Given the description of an element on the screen output the (x, y) to click on. 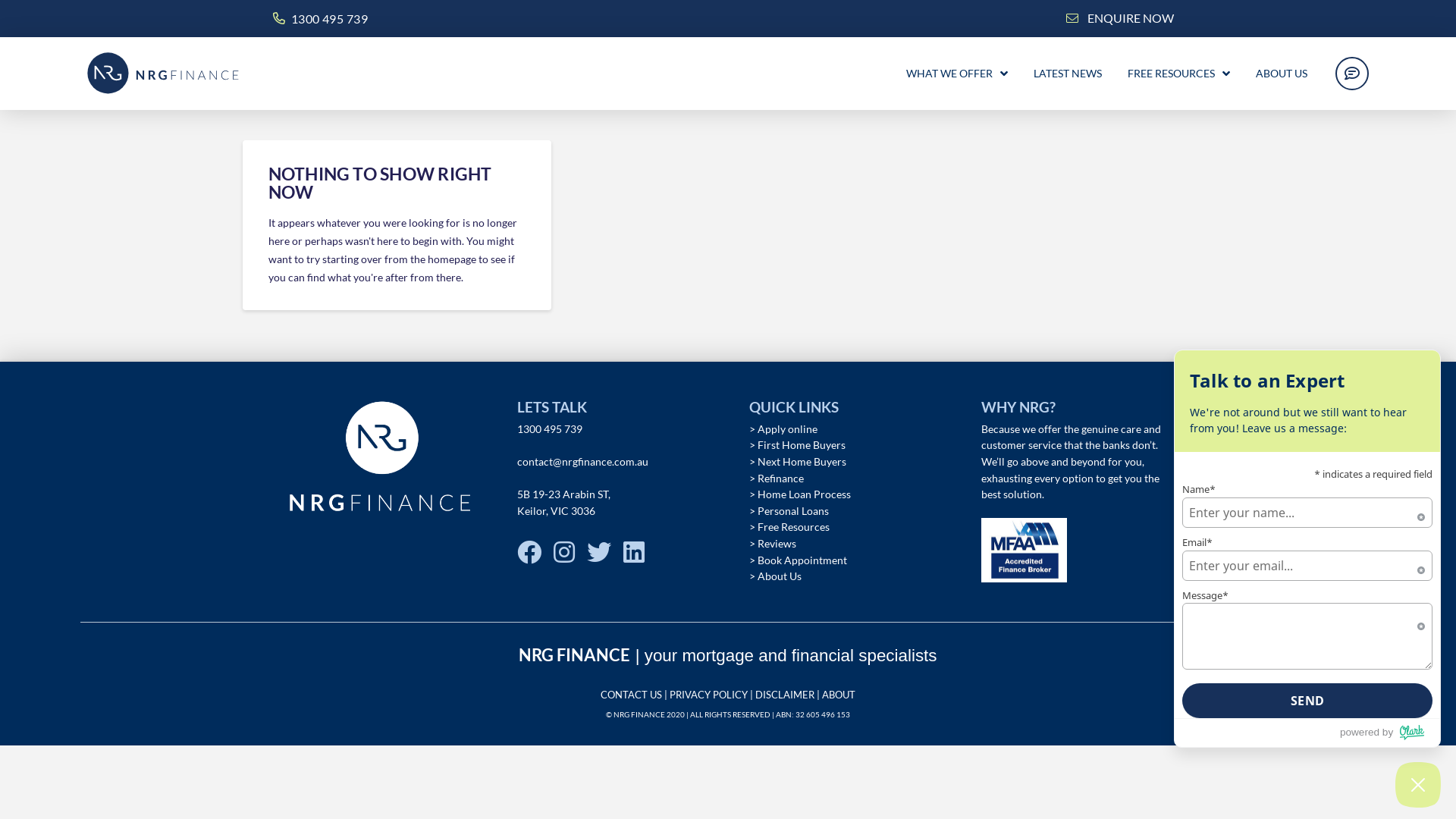
> Free Resources Element type: text (789, 526)
Required field Element type: hover (1420, 623)
> Reviews Element type: text (772, 542)
SEND Element type: text (1307, 700)
FREE RESOURCES Element type: text (1178, 73)
powered by Olark Logo Element type: text (1389, 732)
WHAT WE OFFER Element type: text (956, 73)
LATEST NEWS Element type: text (1067, 73)
CONTACT US Element type: text (631, 694)
1300 495 739 Element type: text (329, 18)
Required field Element type: hover (1420, 567)
> About Us Element type: text (775, 575)
> Book Appointment Element type: text (798, 559)
> First Home Buyers Element type: text (797, 444)
contact@nrgfinance.com.au Element type: text (582, 461)
> Personal Loans Element type: text (788, 510)
1300 495 739 Element type: text (549, 428)
ENQUIRE NOW Element type: text (1130, 17)
> Home Loan Process Element type: text (799, 493)
> Refinance Element type: text (776, 477)
ABOUT US Element type: text (1281, 73)
> Next Home Buyers Element type: text (797, 461)
DISCLAIMER Element type: text (784, 694)
ABOUT Element type: text (838, 694)
Required field Element type: hover (1420, 513)
PRIVACY POLICY Element type: text (708, 694)
> Apply online Element type: text (783, 428)
